Given the description of an element on the screen output the (x, y) to click on. 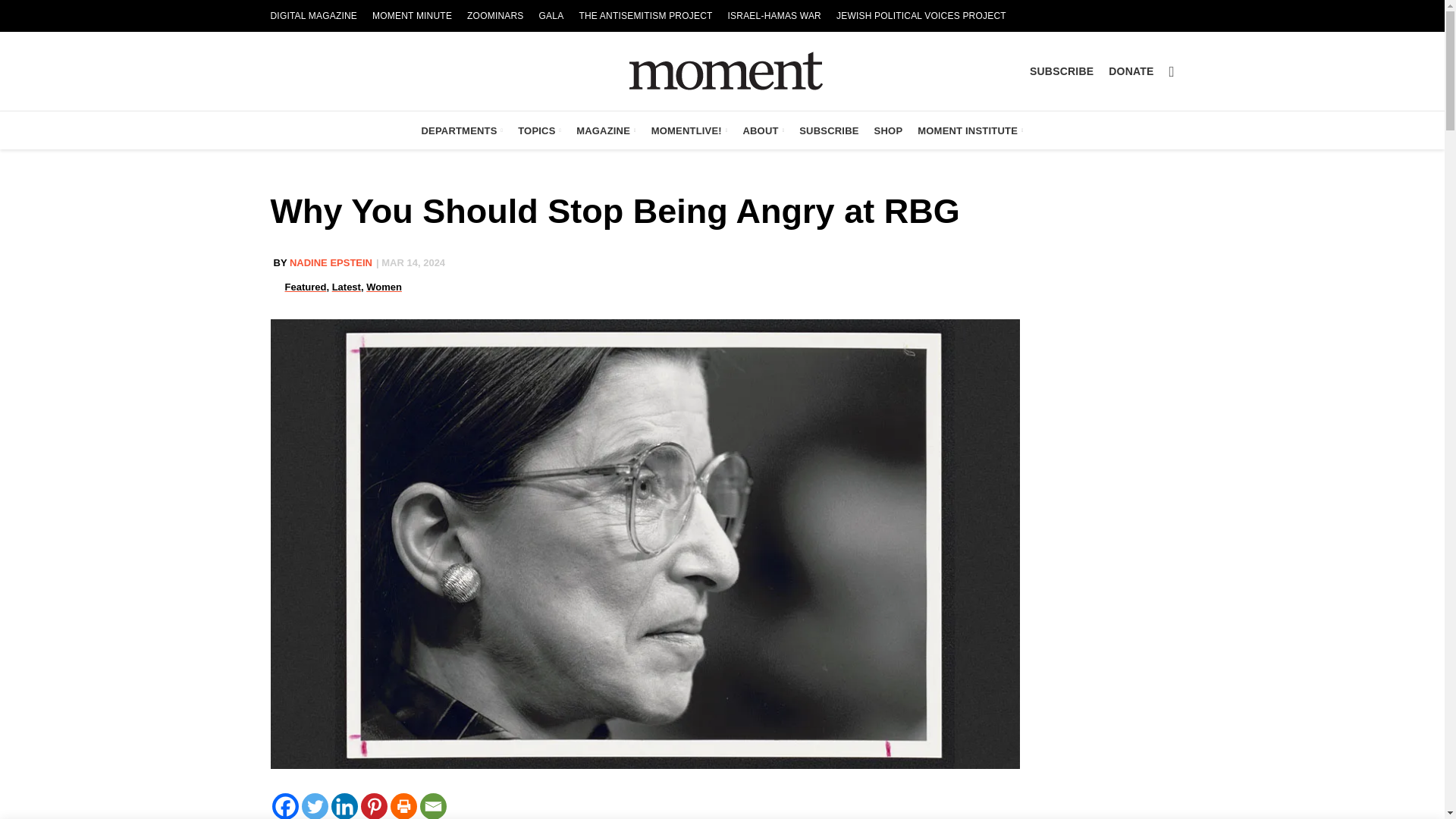
MOMENT MINUTE (412, 15)
GALA (551, 15)
Pinterest (374, 806)
Linkedin (343, 806)
ISRAEL-HAMAS WAR (774, 15)
DIGITAL MAGAZINE (313, 15)
TOPICS (540, 130)
DONATE (1130, 71)
THE ANTISEMITISM PROJECT (644, 15)
ZOOMINARS (495, 15)
Posts by Nadine Epstein (330, 261)
Facebook (284, 806)
SUBSCRIBE (1061, 71)
Print (403, 806)
Search (1171, 71)
